Given the description of an element on the screen output the (x, y) to click on. 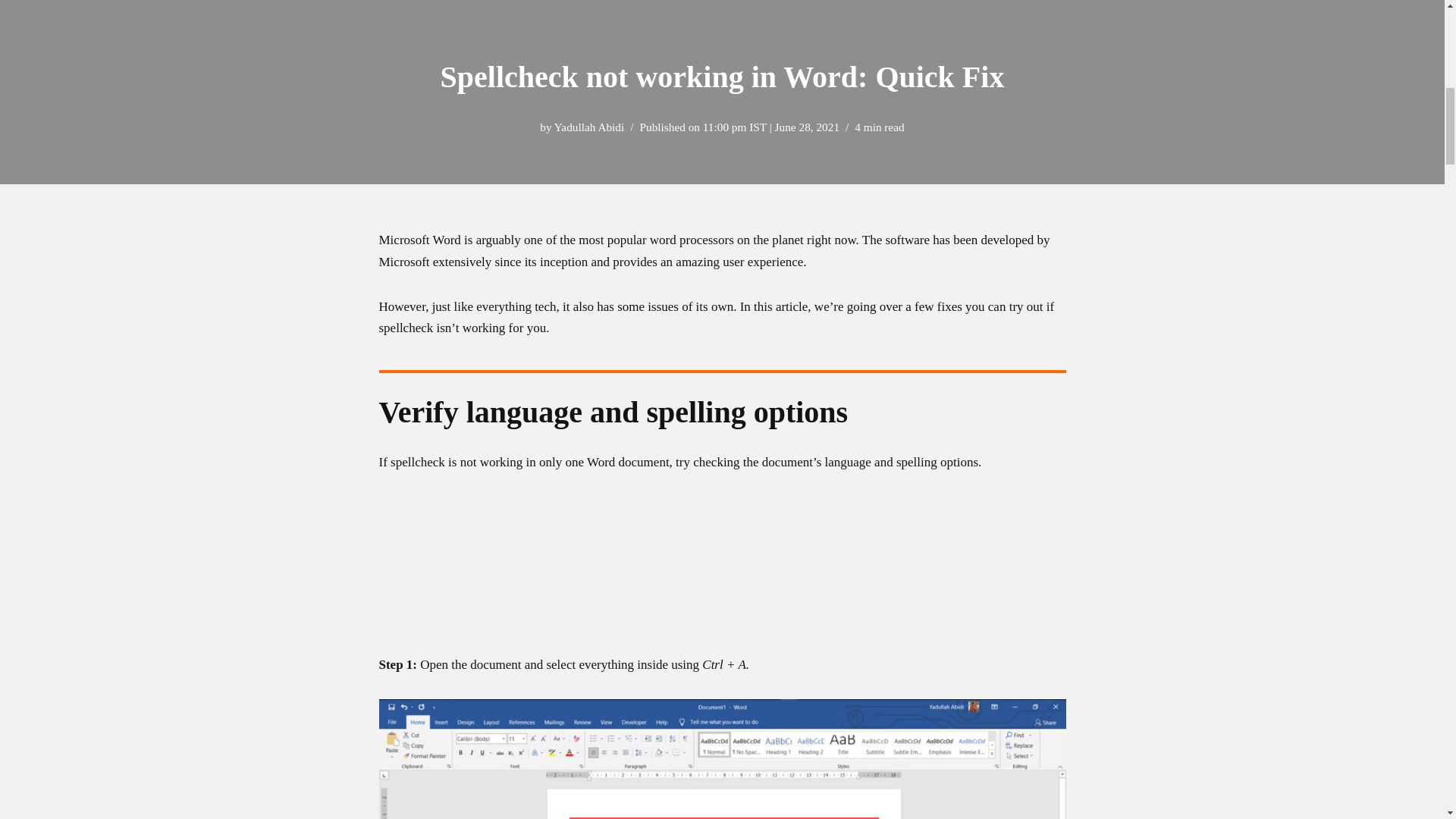
Posts by Yadullah Abidi (589, 126)
